Given the description of an element on the screen output the (x, y) to click on. 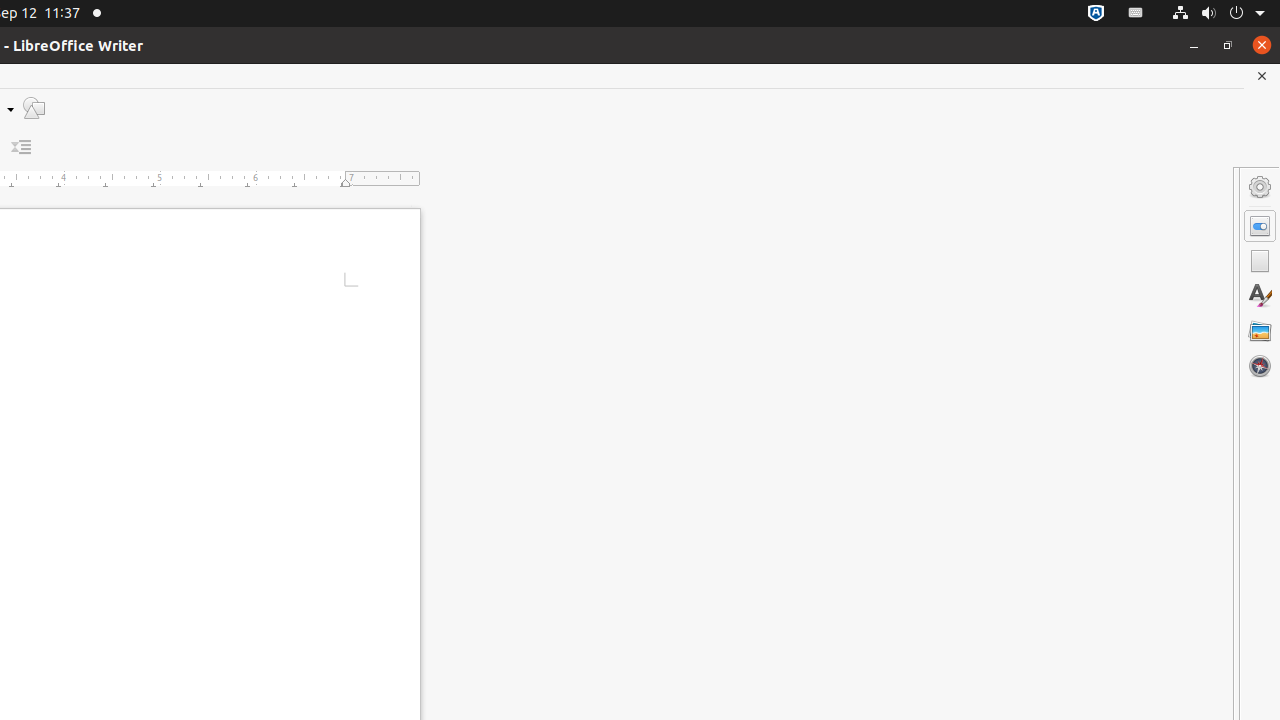
:1.72/StatusNotifierItem Element type: menu (1096, 13)
Gallery Element type: radio-button (1260, 331)
Decrease Element type: push-button (21, 147)
Styles Element type: radio-button (1260, 296)
org.kde.StatusNotifierItem-14077-1 Element type: menu (1136, 13)
